Given the description of an element on the screen output the (x, y) to click on. 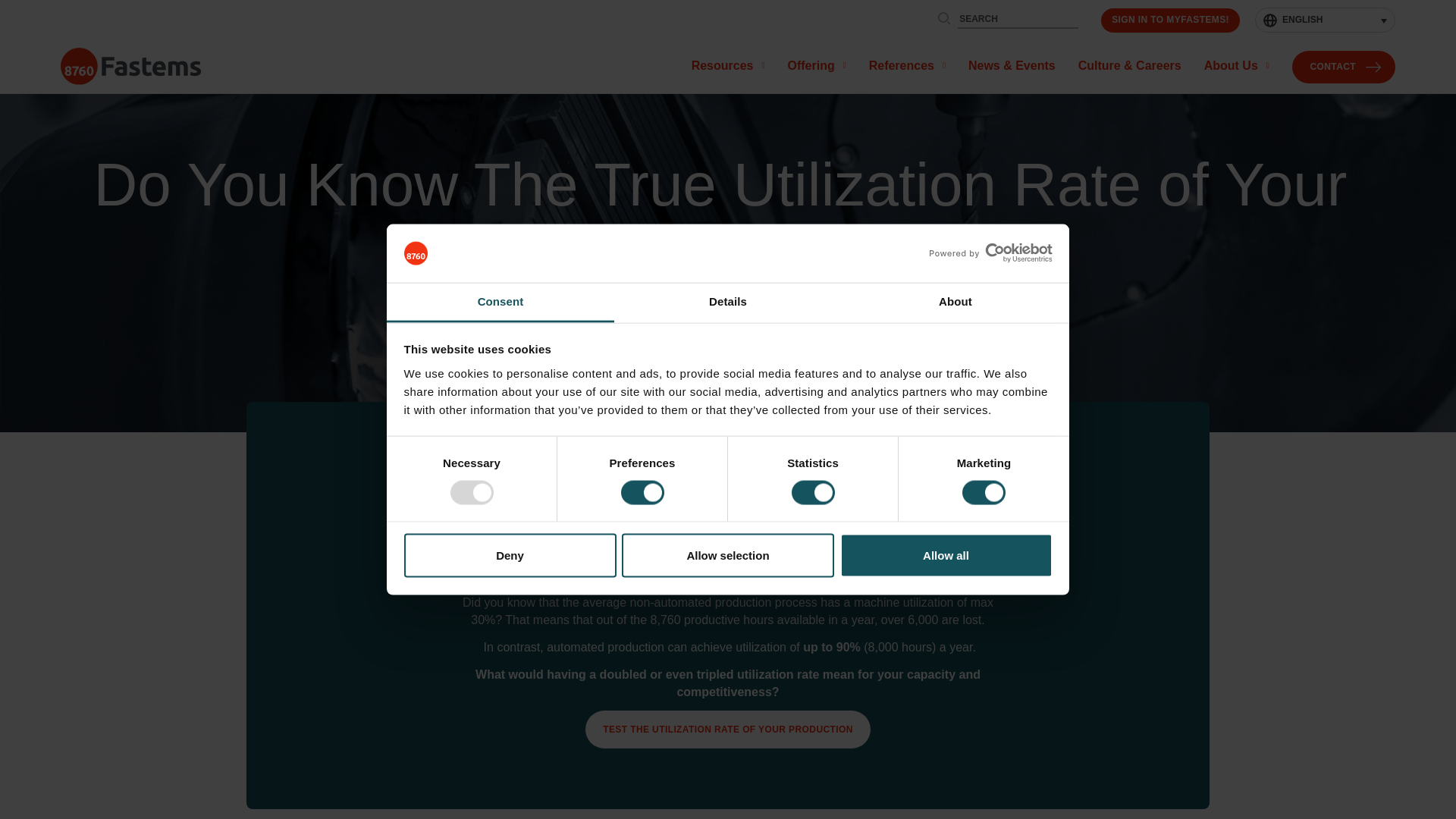
Details (727, 302)
Consent (500, 302)
About (954, 302)
